Given the description of an element on the screen output the (x, y) to click on. 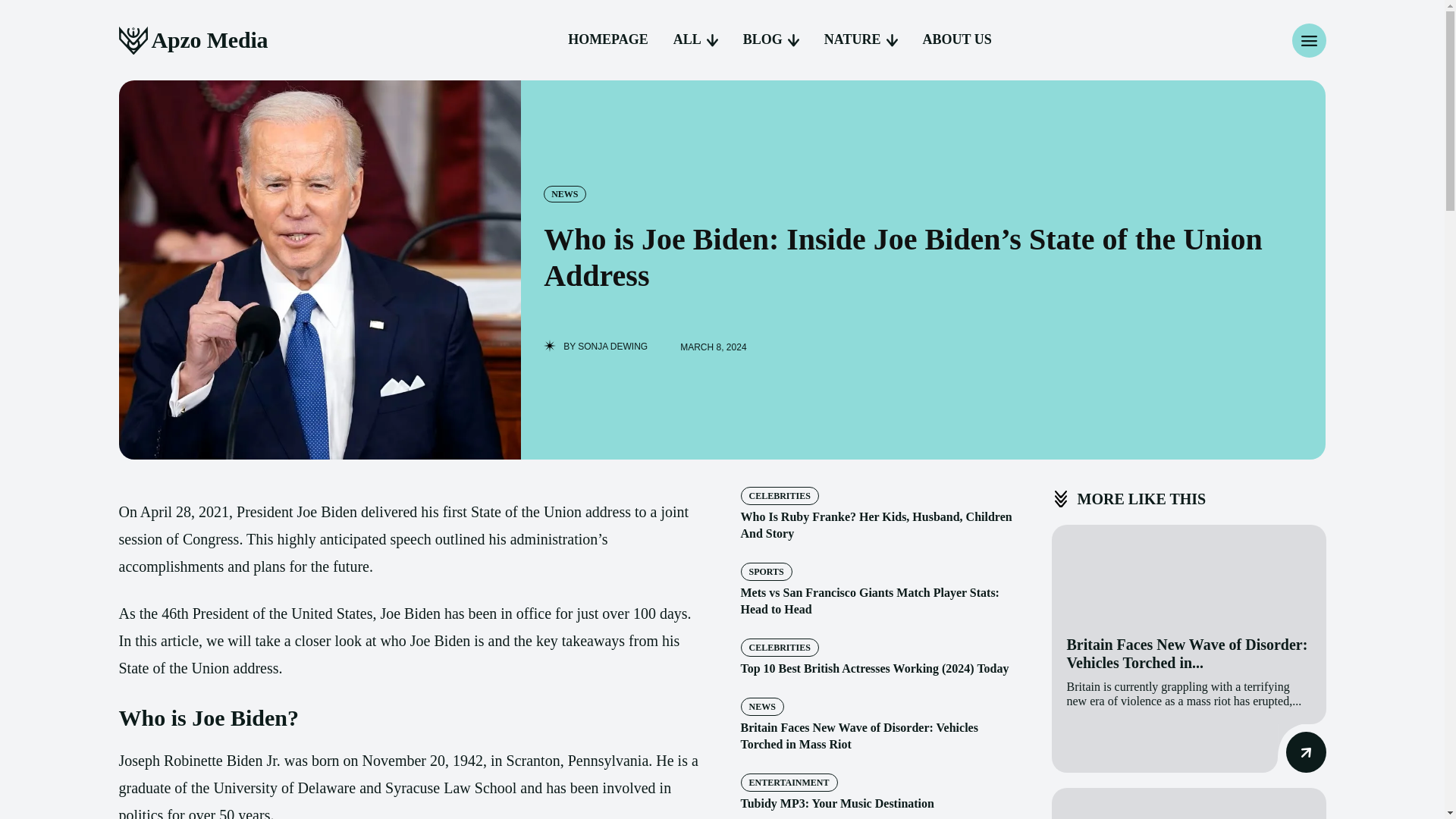
Apzo Media (192, 40)
ALL (695, 39)
HOMEPAGE (608, 39)
Apzo Media (192, 40)
